Given the description of an element on the screen output the (x, y) to click on. 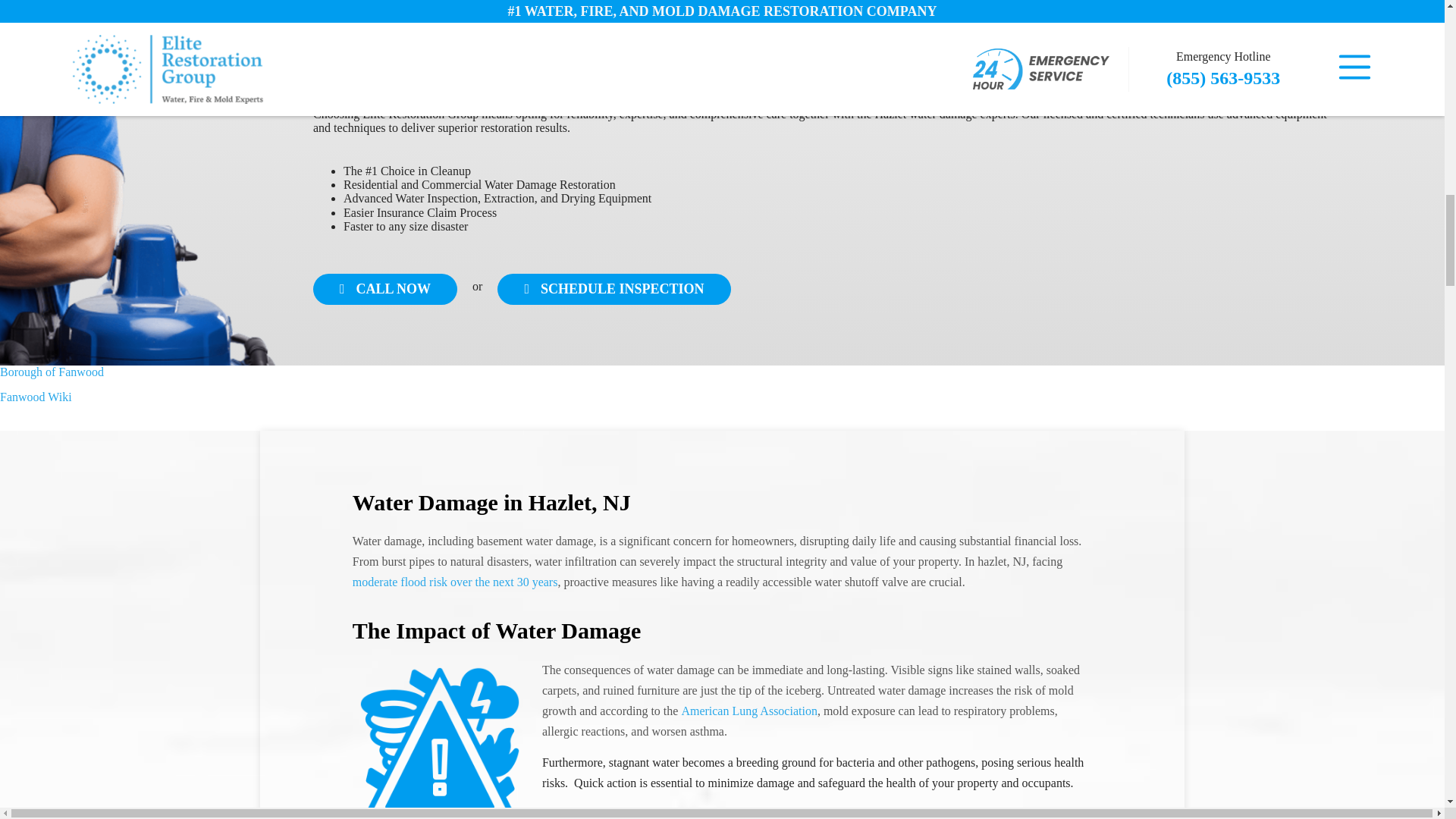
Borough of Fanwood (51, 371)
CALL NOW (385, 288)
American Lung Association (748, 710)
moderate flood risk over the next 30 years (454, 581)
SCHEDULE INSPECTION (613, 288)
Hazlet Water Damage Restoration Solutions (439, 739)
Fanwood Wiki (35, 396)
